Given the description of an element on the screen output the (x, y) to click on. 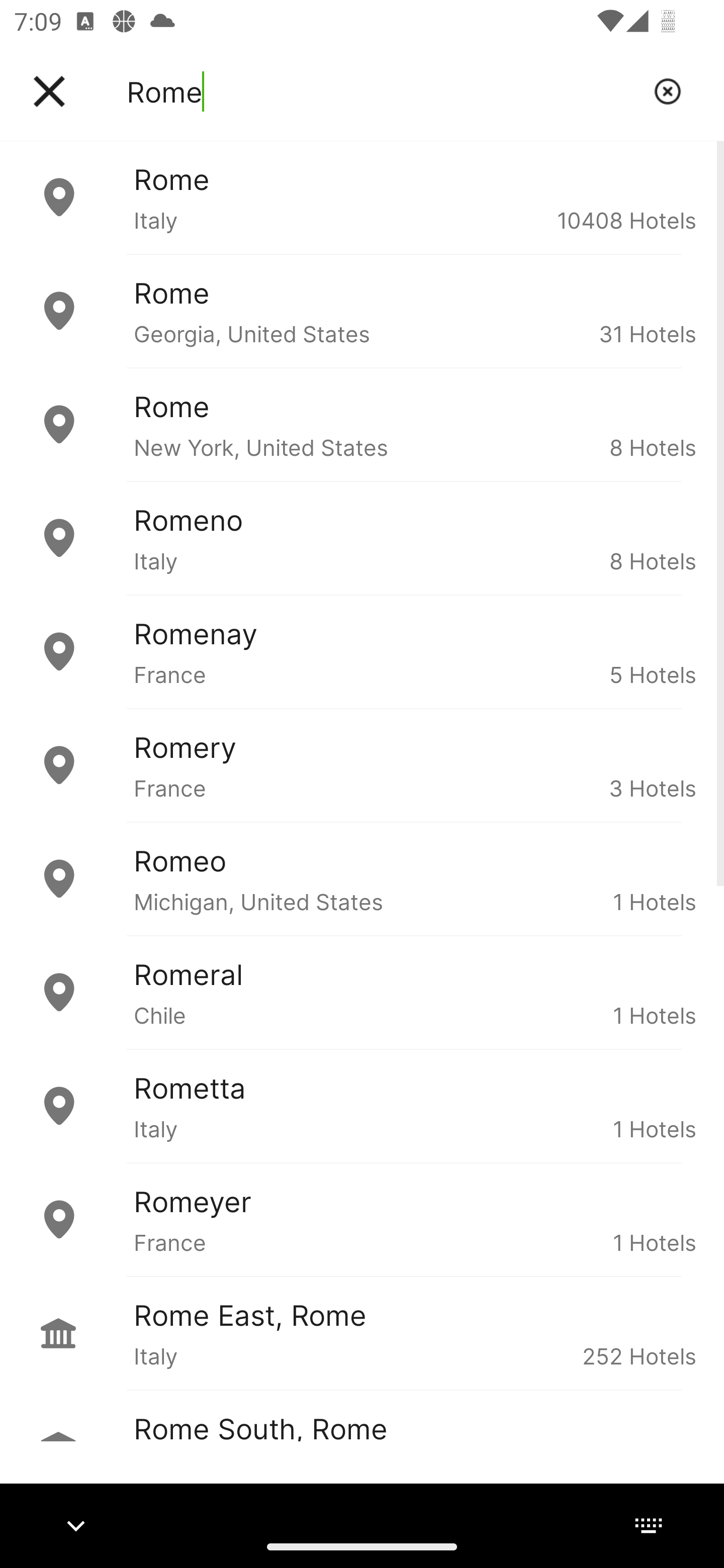
Rome (382, 91)
Rome Italy 10408 Hotels (362, 197)
Rome Georgia, United States 31 Hotels (362, 310)
Rome New York, United States 8 Hotels (362, 424)
Romeno Italy 8 Hotels (362, 537)
Romenay France 5 Hotels (362, 651)
Romery France 3 Hotels (362, 764)
Romeo Michigan, United States 1 Hotels (362, 878)
Romeral Chile 1 Hotels (362, 992)
Rometta Italy 1 Hotels (362, 1105)
Romeyer France 1 Hotels (362, 1219)
Rome East, Rome Italy 252 Hotels (362, 1332)
